Given the description of an element on the screen output the (x, y) to click on. 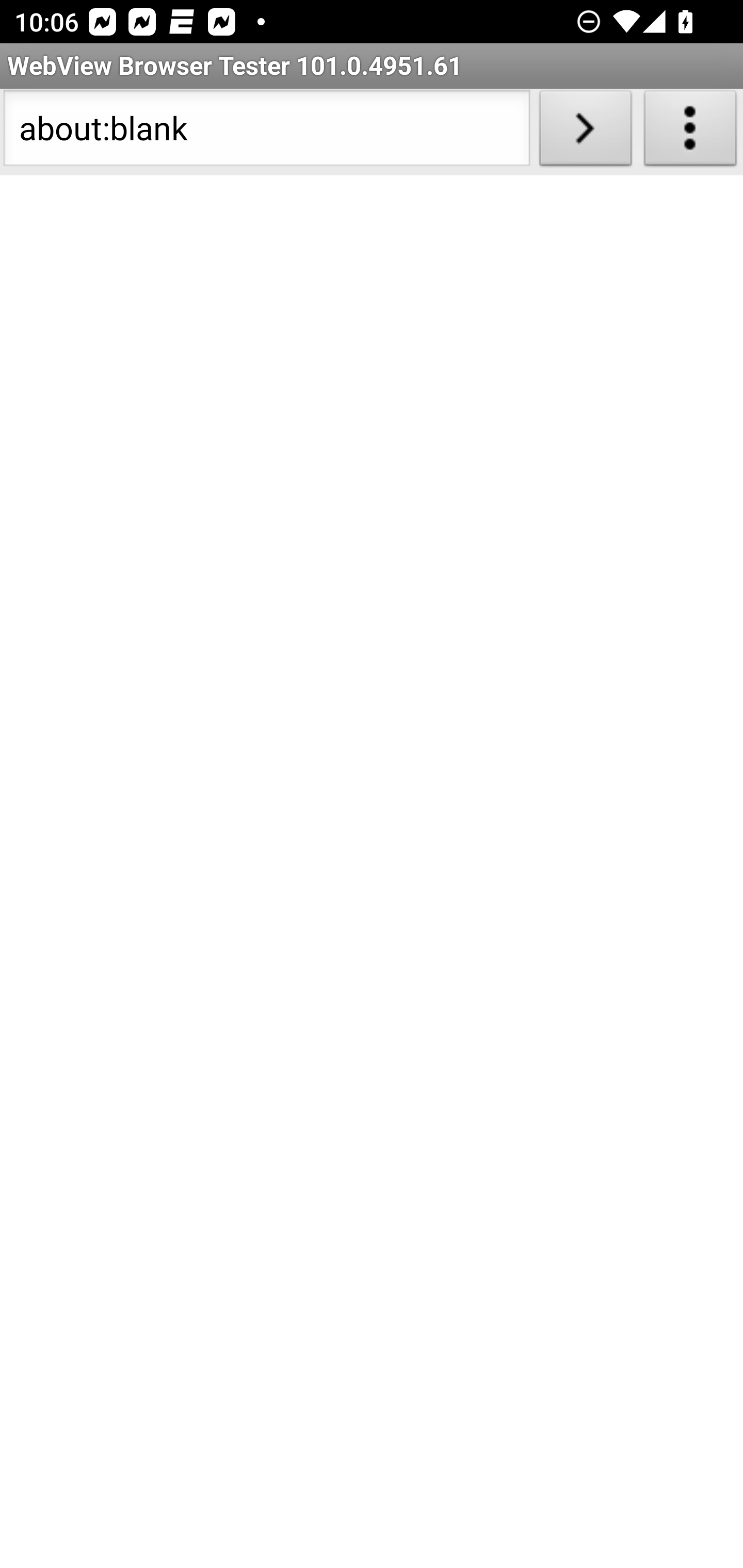
about:blank (266, 132)
Load URL (585, 132)
About WebView (690, 132)
